Given the description of an element on the screen output the (x, y) to click on. 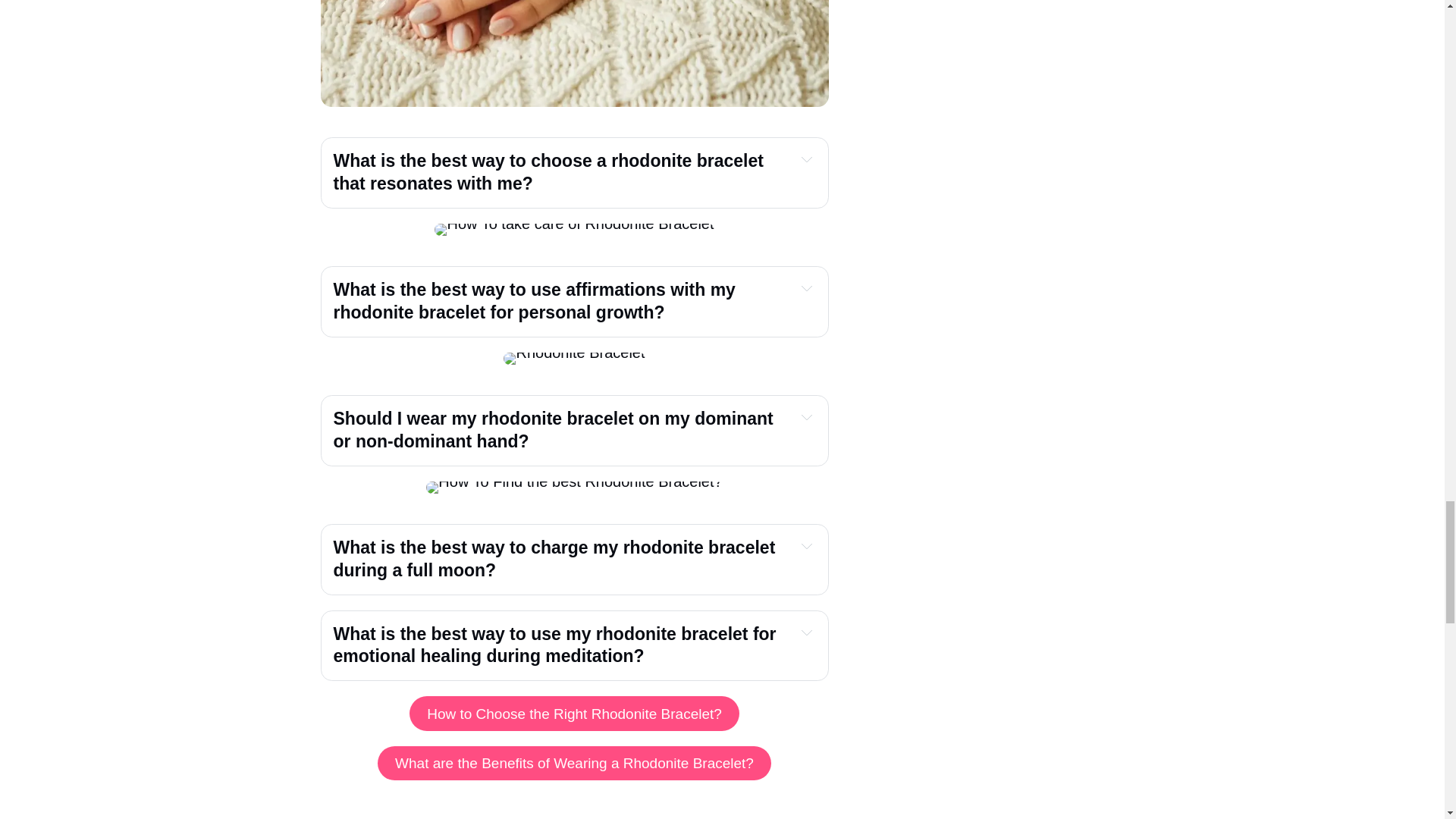
How to Choose the Right Rhodonite Bracelet? (573, 713)
What are the Benefits of Wearing a Rhodonite Bracelet? (573, 763)
